Given the description of an element on the screen output the (x, y) to click on. 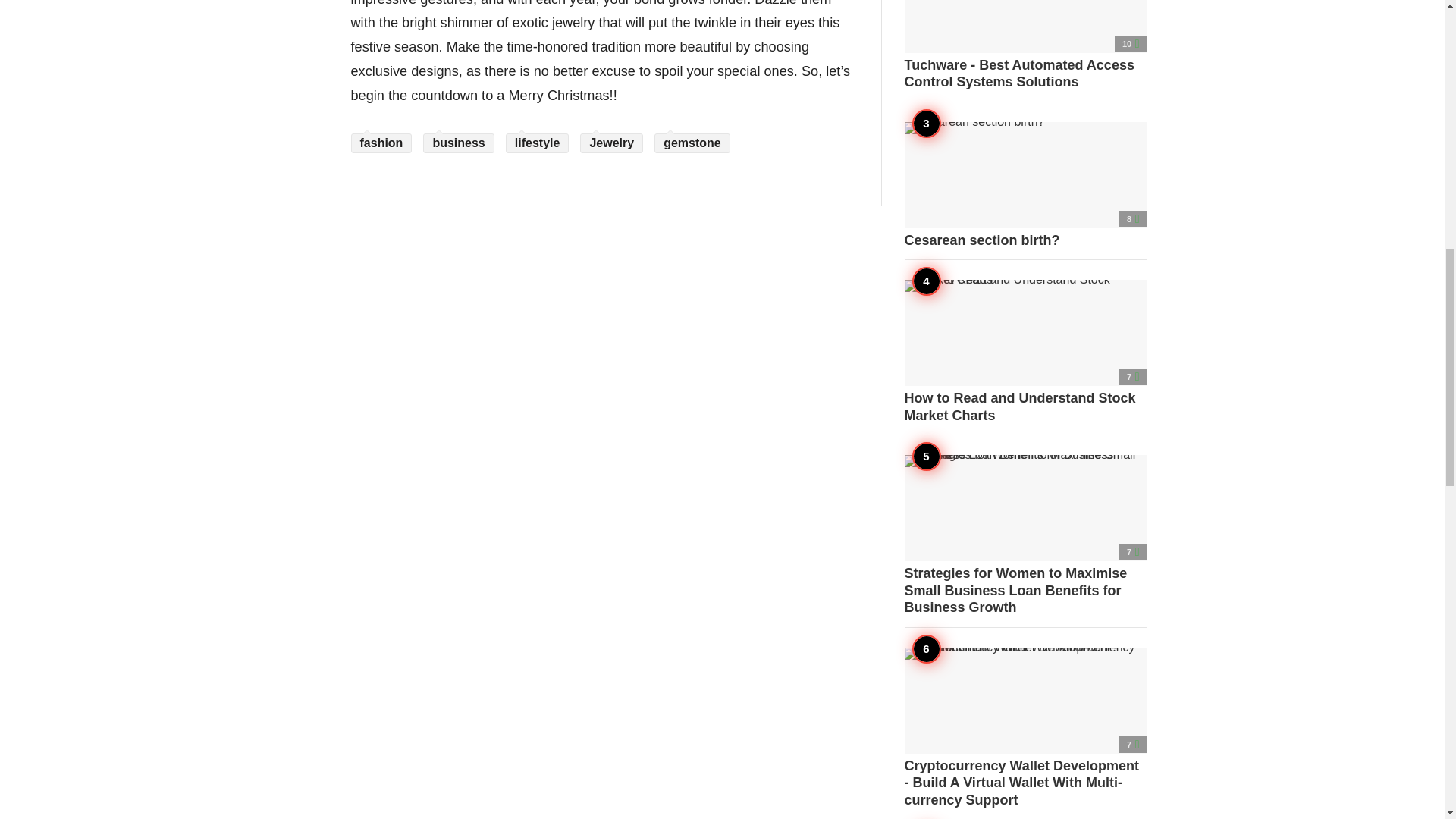
Cesarean section birth? (1025, 184)
Tuchware - Best Automated Access Control Systems Solutions (1025, 45)
How to Read and Understand Stock Market Charts (1025, 352)
